Given the description of an element on the screen output the (x, y) to click on. 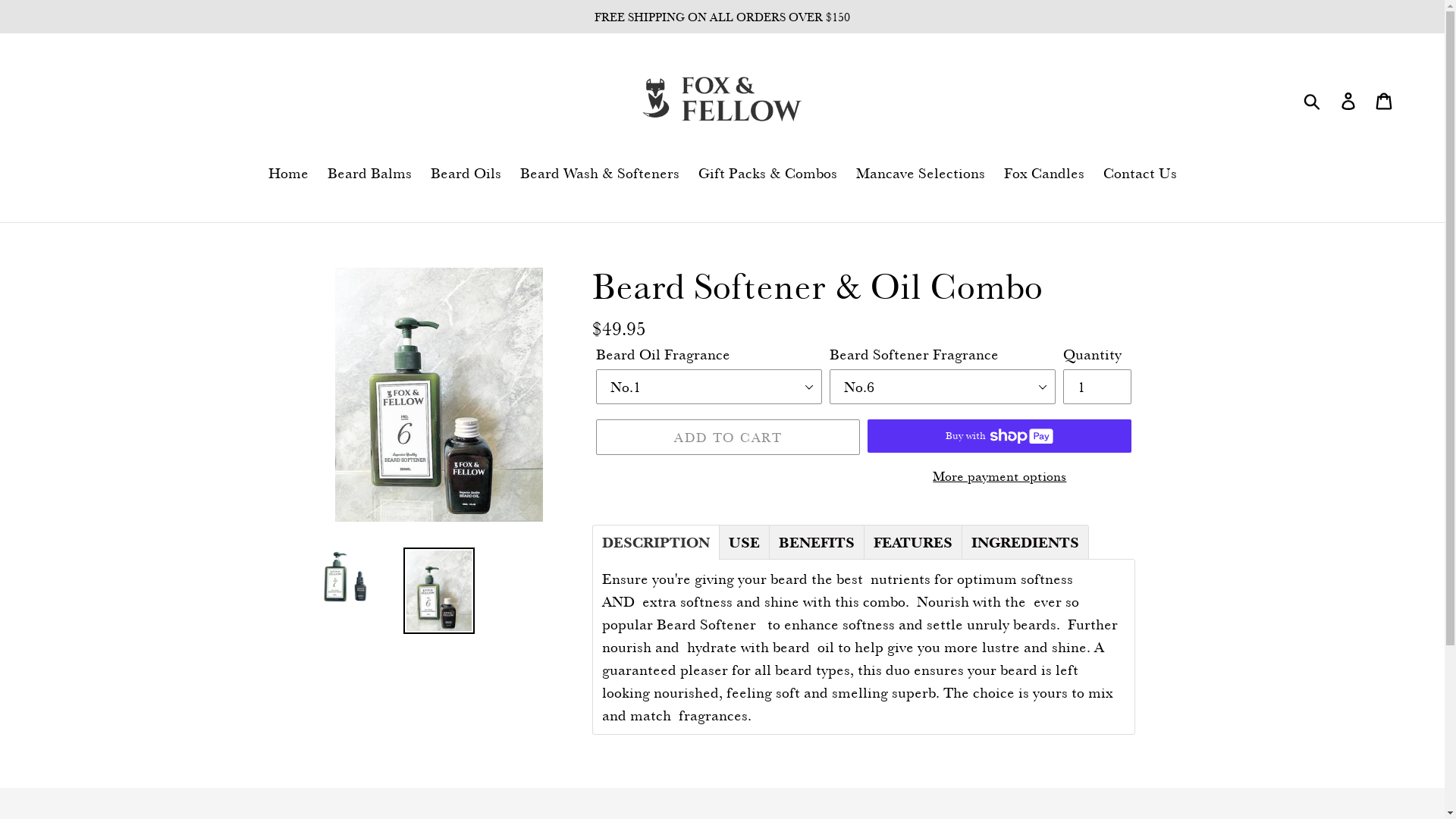
Beard Balms Element type: text (369, 173)
Gift Packs & Combos Element type: text (767, 173)
ADD TO CART Element type: text (727, 437)
Cart Element type: text (1384, 98)
Fox Candles Element type: text (1044, 173)
Home Element type: text (288, 173)
Log in Element type: text (1349, 98)
Mancave Selections Element type: text (919, 173)
Beard Wash & Softeners Element type: text (599, 173)
Beard Oils Element type: text (465, 173)
More payment options Element type: text (999, 475)
FEATURES Element type: text (912, 541)
BENEFITS Element type: text (816, 541)
INGREDIENTS Element type: text (1025, 541)
USE Element type: text (743, 541)
DESCRIPTION Element type: text (655, 541)
Submit Element type: text (1312, 98)
Contact Us Element type: text (1139, 173)
